Given the description of an element on the screen output the (x, y) to click on. 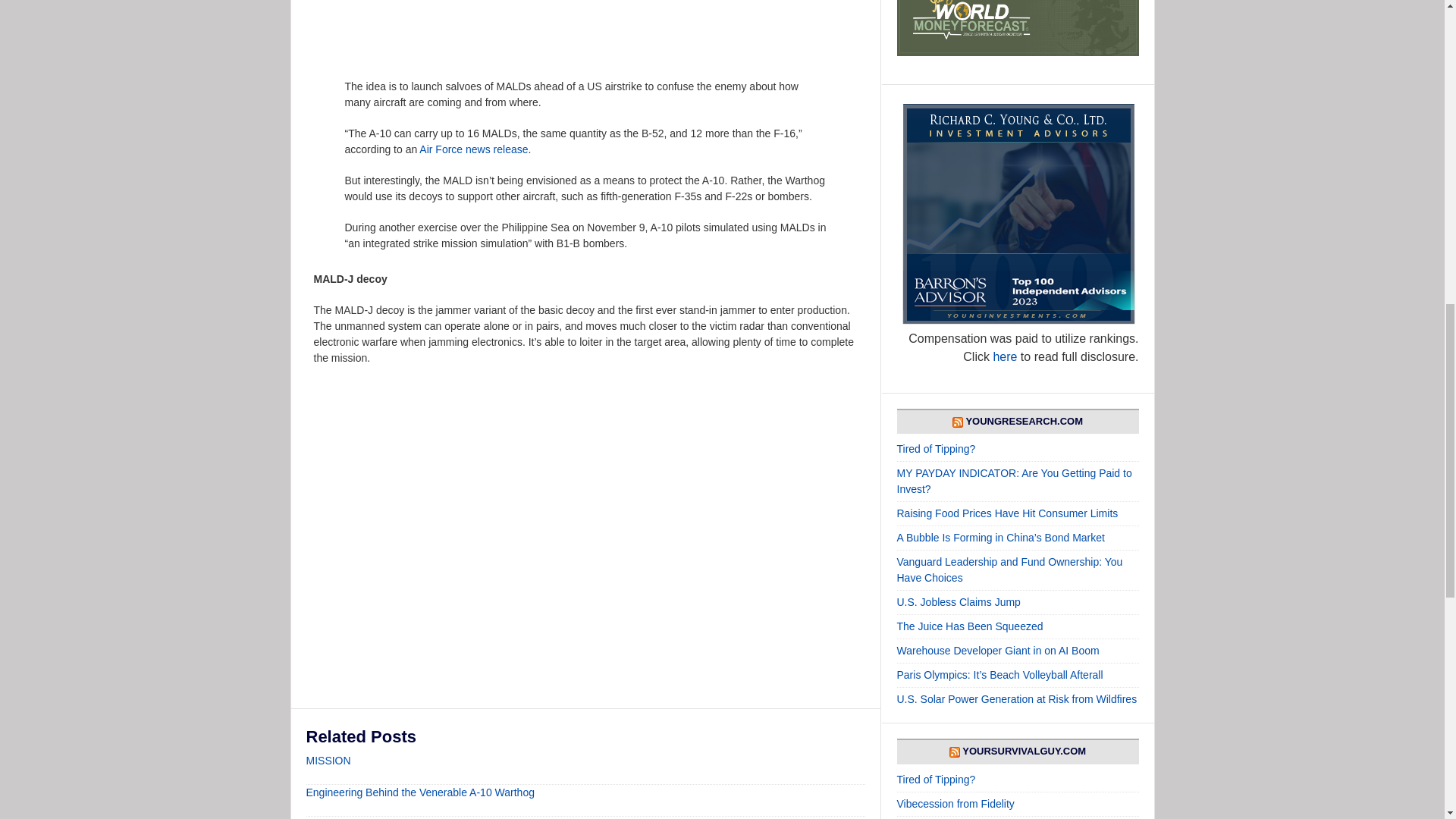
Engineering Behind the Venerable A-10 Warthog (419, 792)
Air Force news release (473, 149)
YouTube video player (541, 523)
MISSION (327, 760)
YouTube video player (571, 29)
